Given the description of an element on the screen output the (x, y) to click on. 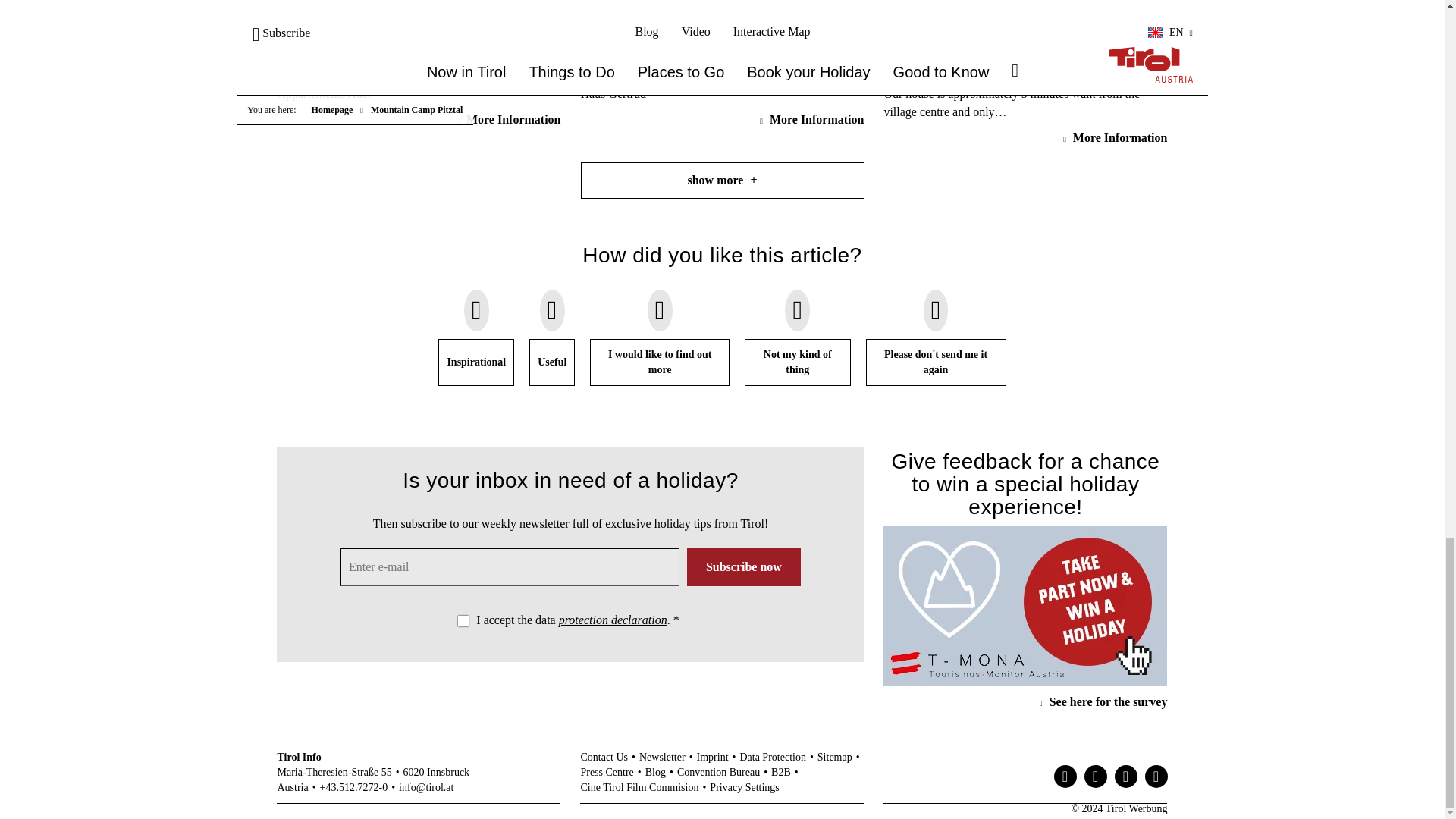
Instagram (1065, 775)
YouTube (1155, 775)
Sommercard (418, 15)
auf Anfrage Buchbar Sommer (721, 15)
TikTok (1126, 775)
Facebook (1095, 775)
